Given the description of an element on the screen output the (x, y) to click on. 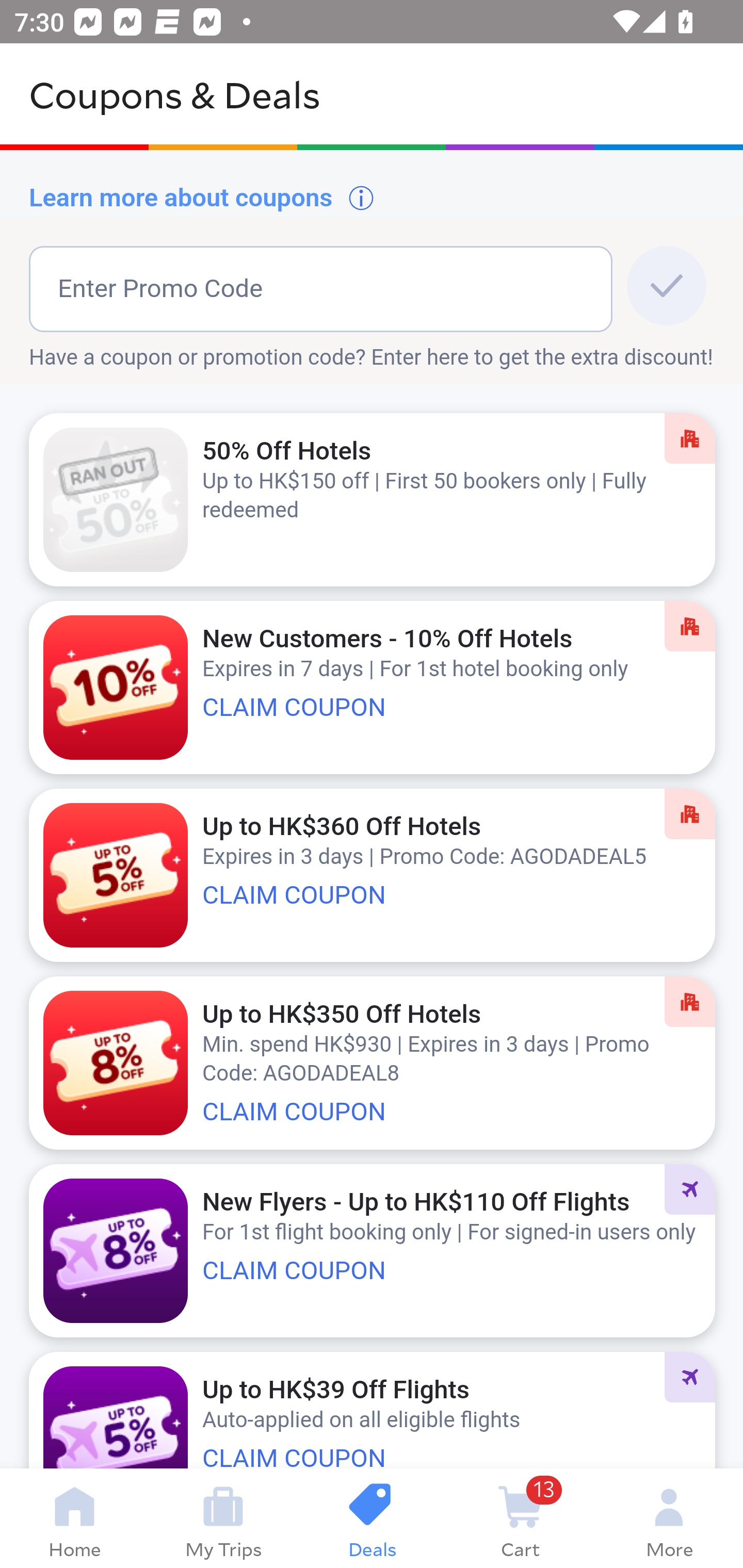
Home (74, 1518)
My Trips (222, 1518)
Deals (371, 1518)
13 Cart (519, 1518)
More (668, 1518)
